Given the description of an element on the screen output the (x, y) to click on. 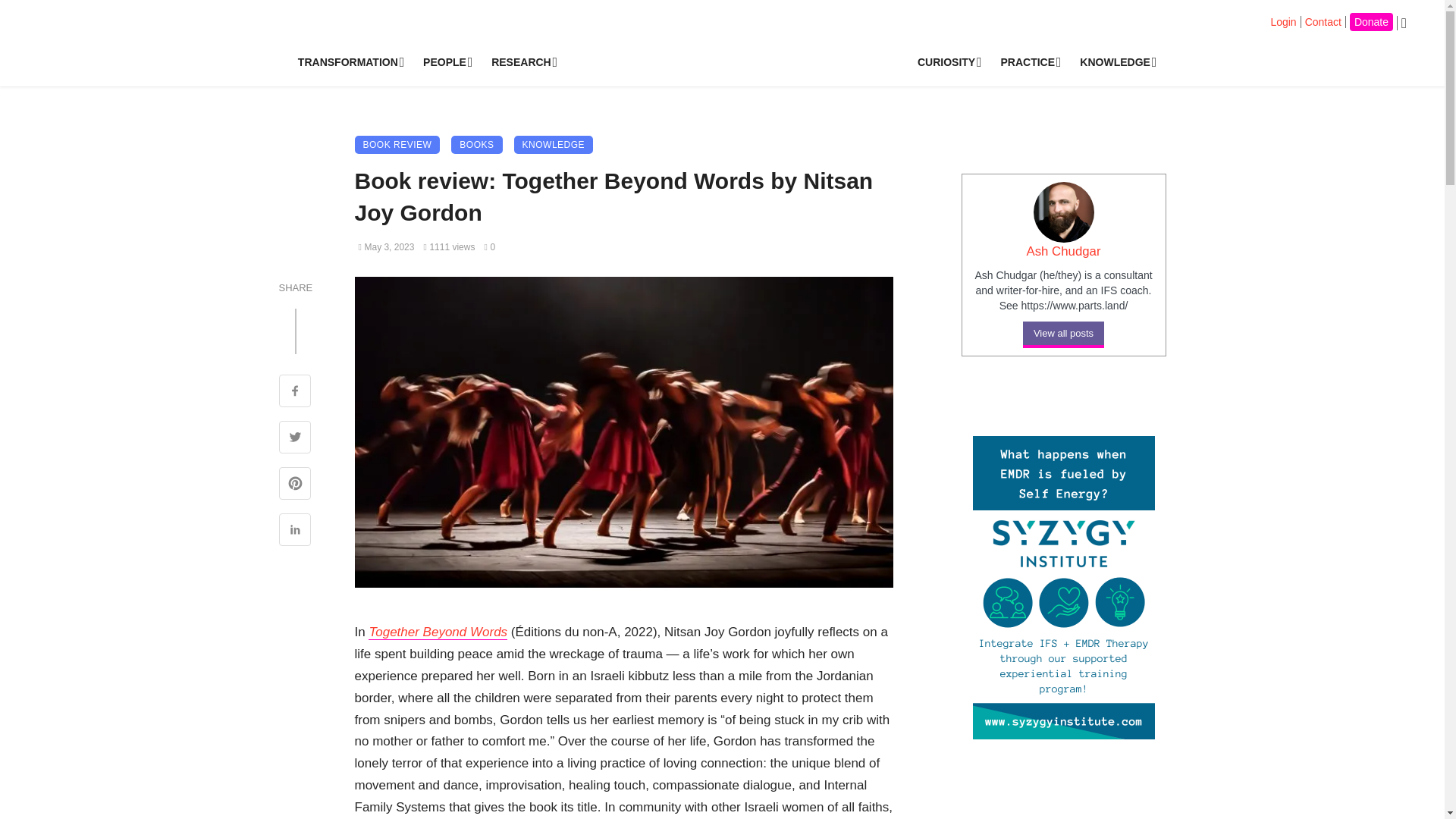
Login (1282, 21)
KNOWLEDGE (1115, 62)
0 Comments (489, 246)
Share on Facebook (295, 392)
May 3, 2023 at 11:40 am (385, 246)
Share on Linkedin (295, 531)
BOOKS (476, 144)
TRANSFORMATION (349, 62)
0 (489, 246)
KNOWLEDGE (553, 144)
